Given the description of an element on the screen output the (x, y) to click on. 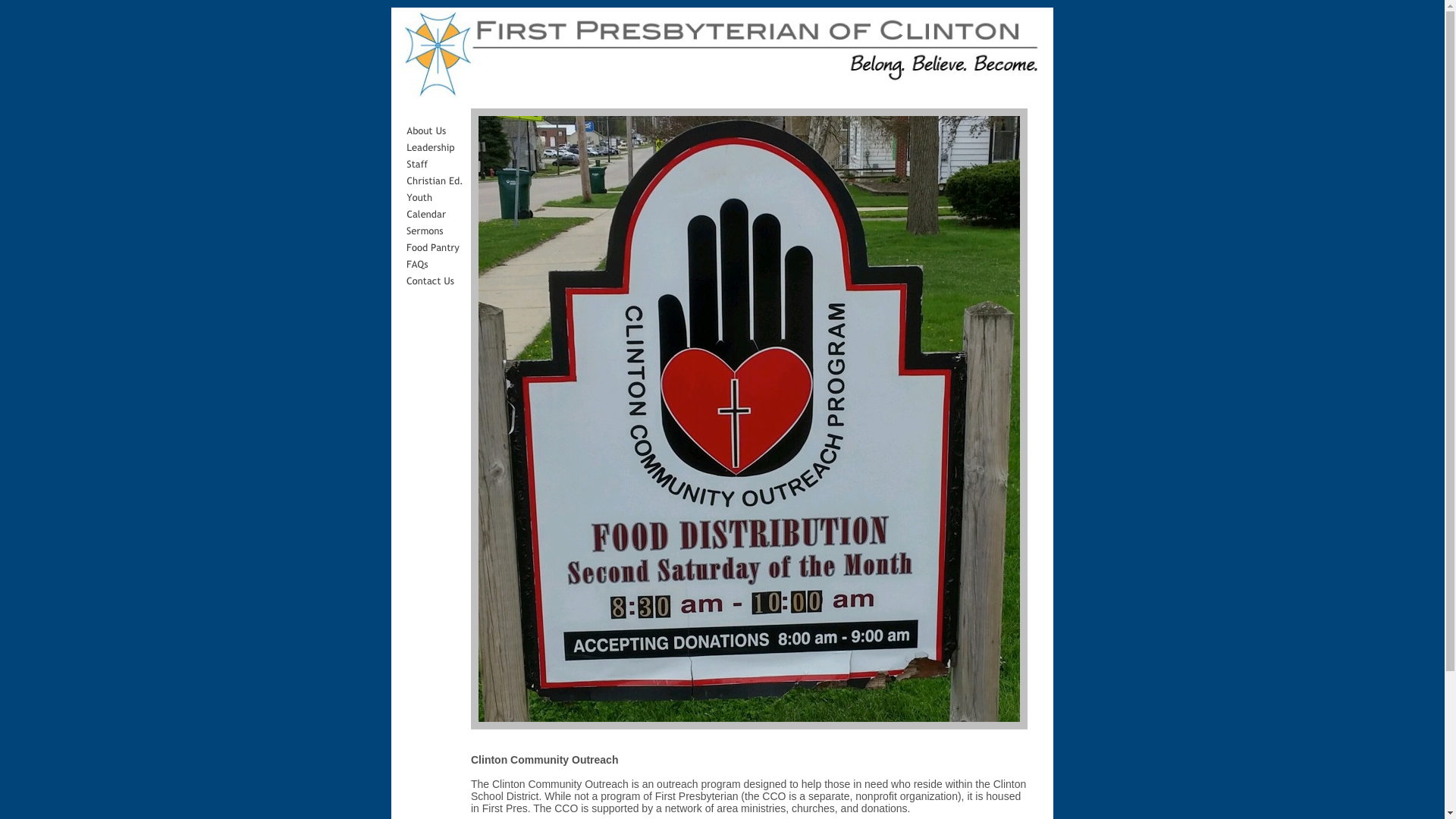
First_Presbyterian_of_Clinton.html Element type: hover (722, 97)
